Given the description of an element on the screen output the (x, y) to click on. 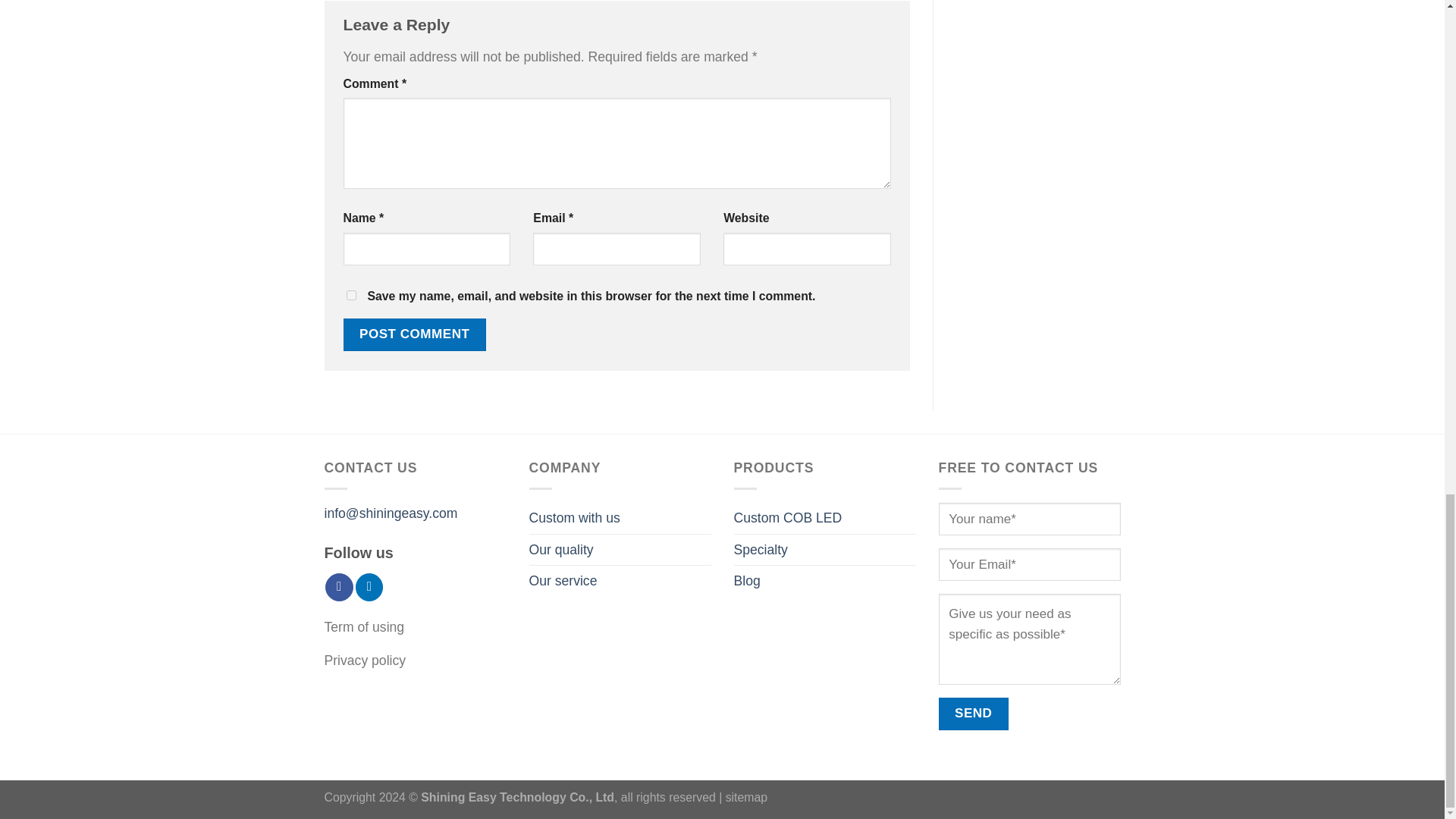
Post Comment (413, 334)
Send (974, 713)
Post Comment (413, 334)
yes (350, 295)
Follow on LinkedIn (368, 587)
Follow on Facebook (338, 587)
